Given the description of an element on the screen output the (x, y) to click on. 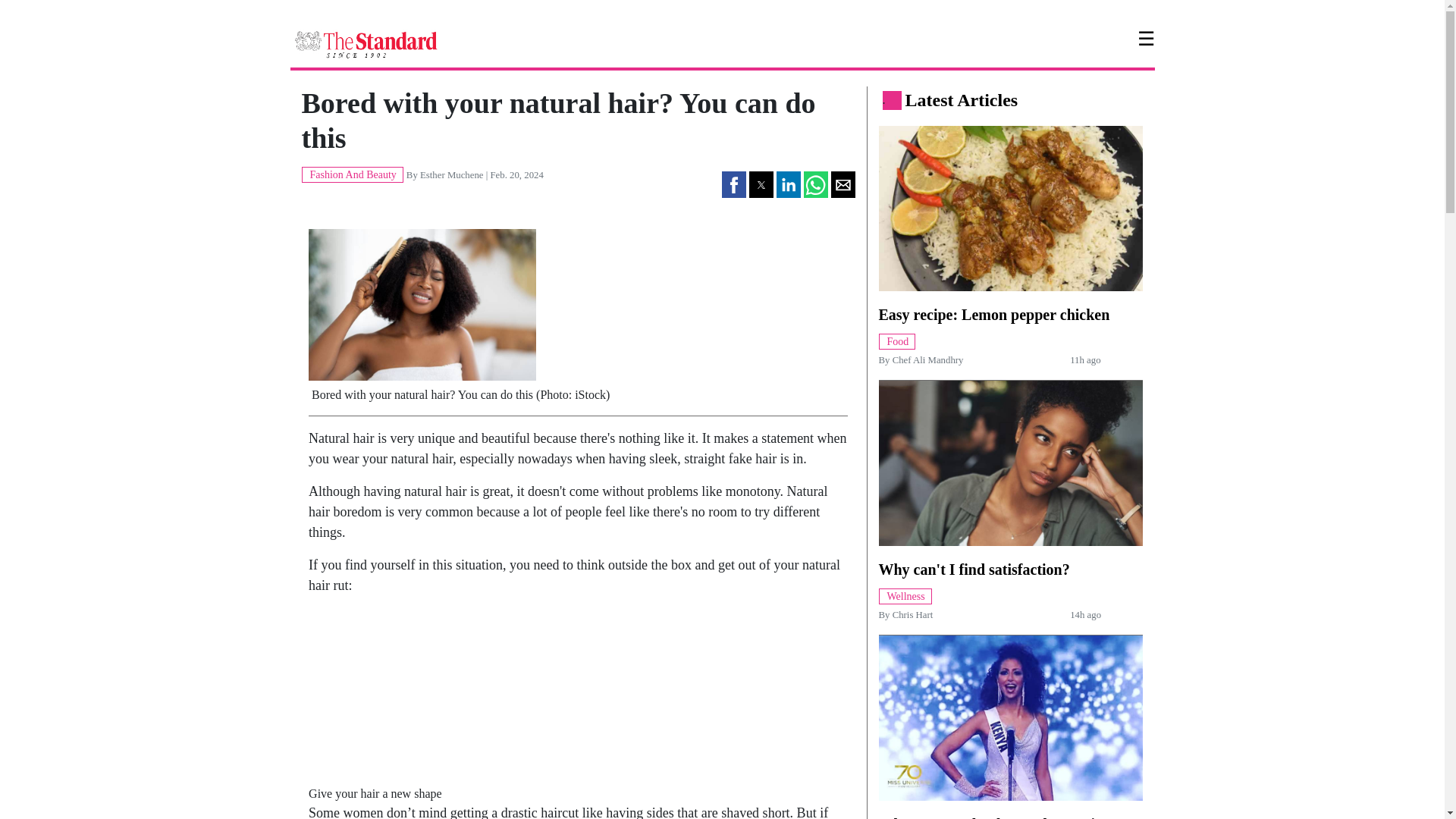
Esther Muchene (451, 174)
Easy recipe: Lemon pepper chicken (993, 314)
Food (896, 340)
Chef Ali Mandhry (927, 359)
Latest Articles (961, 99)
Fashion And Beauty (352, 173)
Wellness (904, 594)
Why can't I find satisfaction? (972, 569)
What you need to know about Miss Universe Kenya (991, 817)
Chris Hart (912, 614)
